Given the description of an element on the screen output the (x, y) to click on. 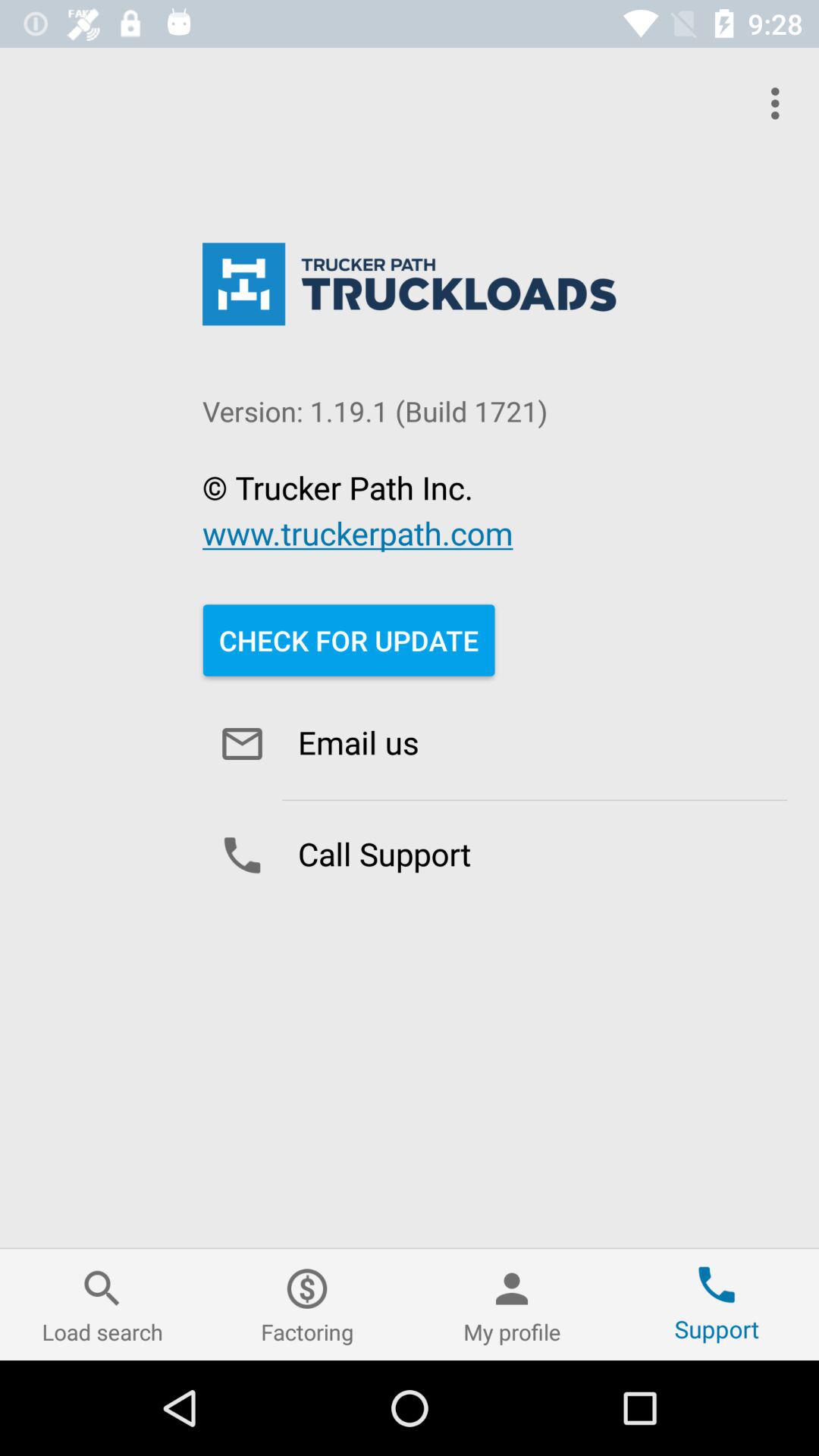
open item above the email us icon (348, 640)
